Given the description of an element on the screen output the (x, y) to click on. 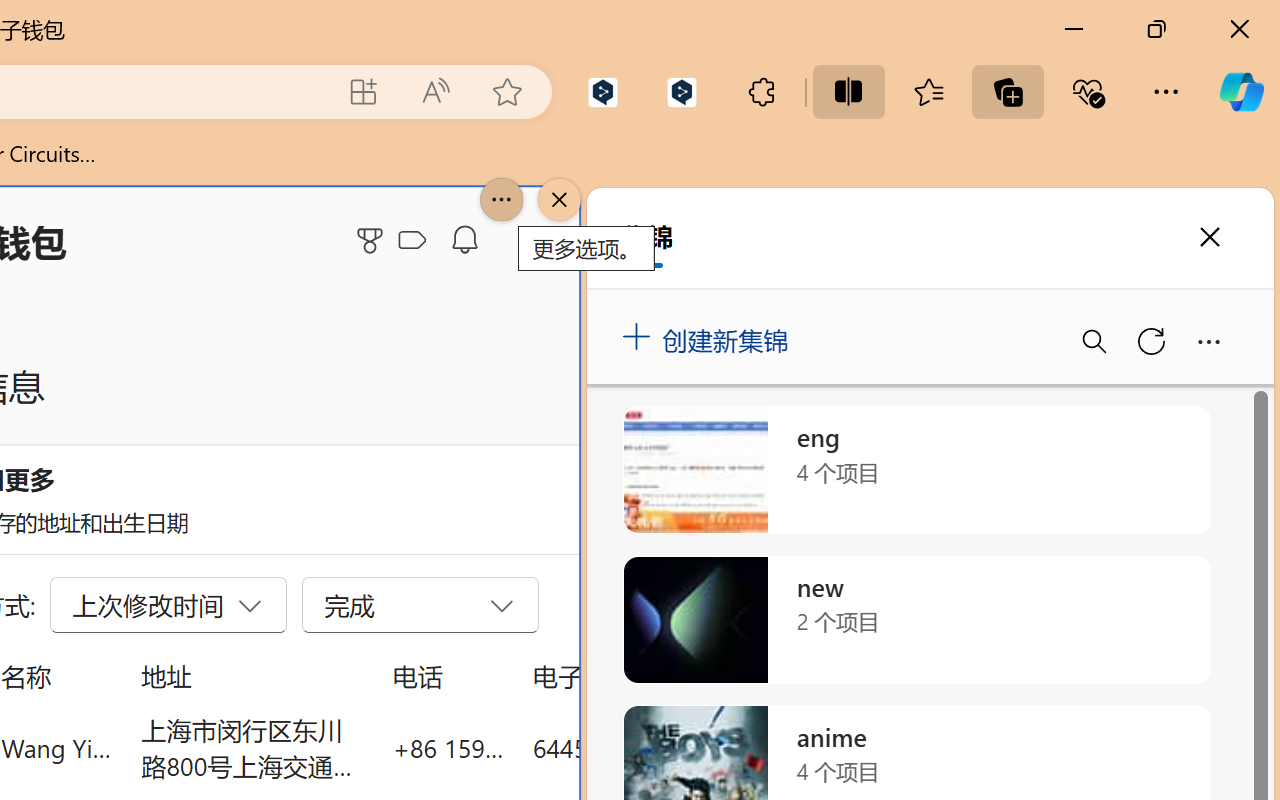
+86 159 0032 4640 (447, 747)
Copilot (Ctrl+Shift+.) (1241, 91)
